Given the description of an element on the screen output the (x, y) to click on. 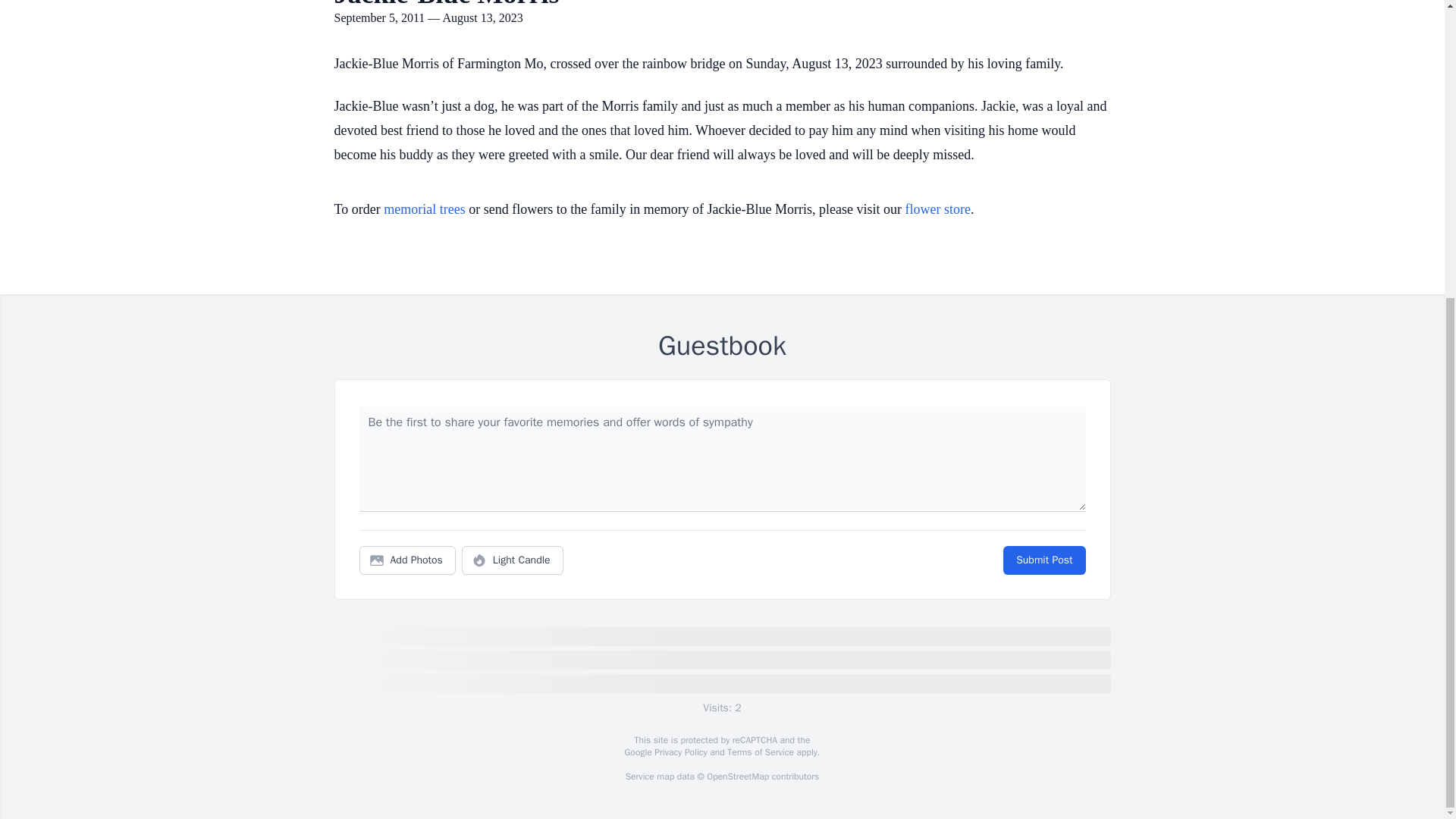
Submit Post (1043, 560)
Add Photos (407, 560)
Privacy Policy (679, 752)
memorial trees (424, 209)
flower store (938, 209)
OpenStreetMap (737, 776)
Light Candle (512, 560)
Terms of Service (759, 752)
